Given the description of an element on the screen output the (x, y) to click on. 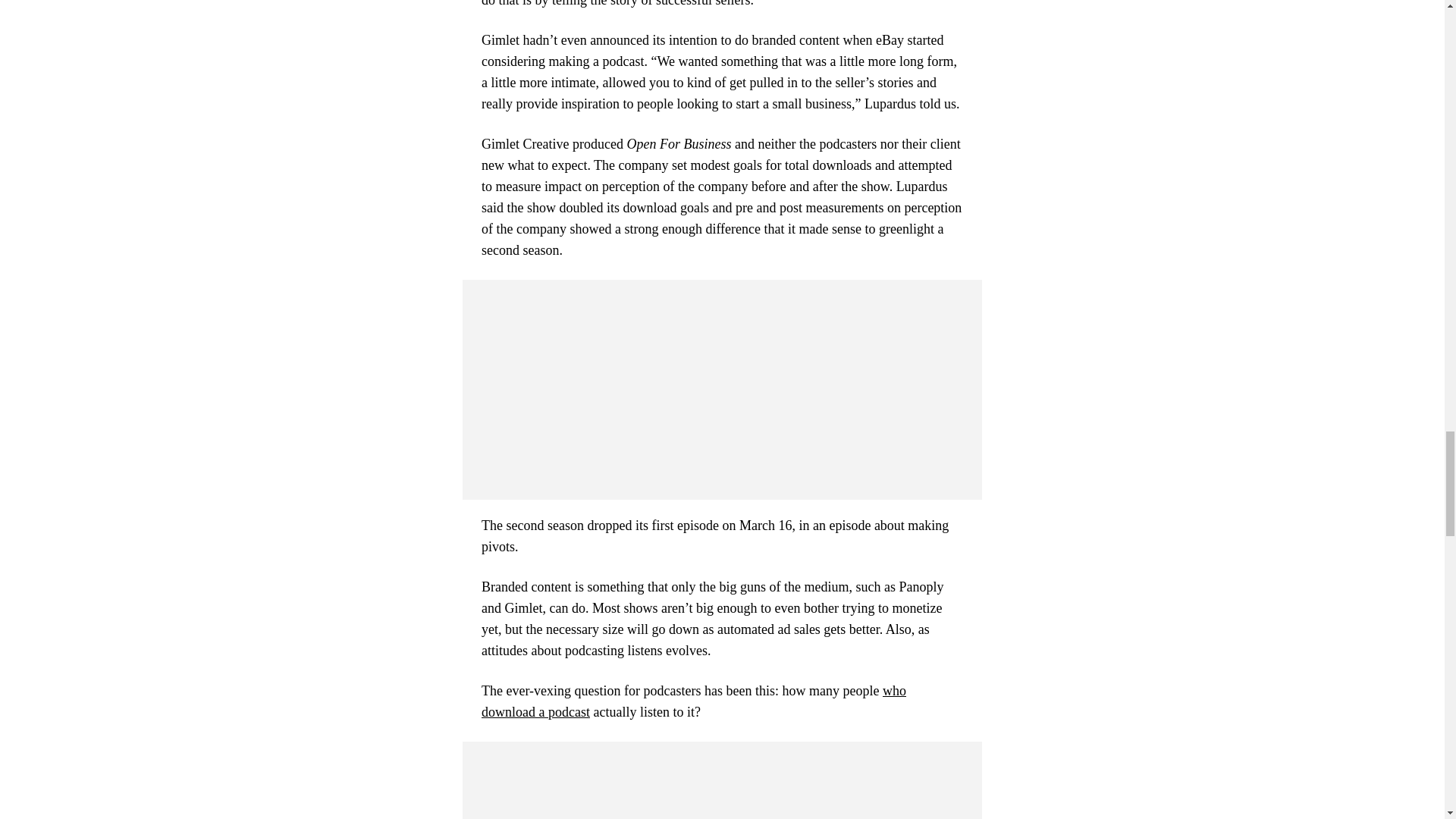
who download a podcast (693, 701)
